Given the description of an element on the screen output the (x, y) to click on. 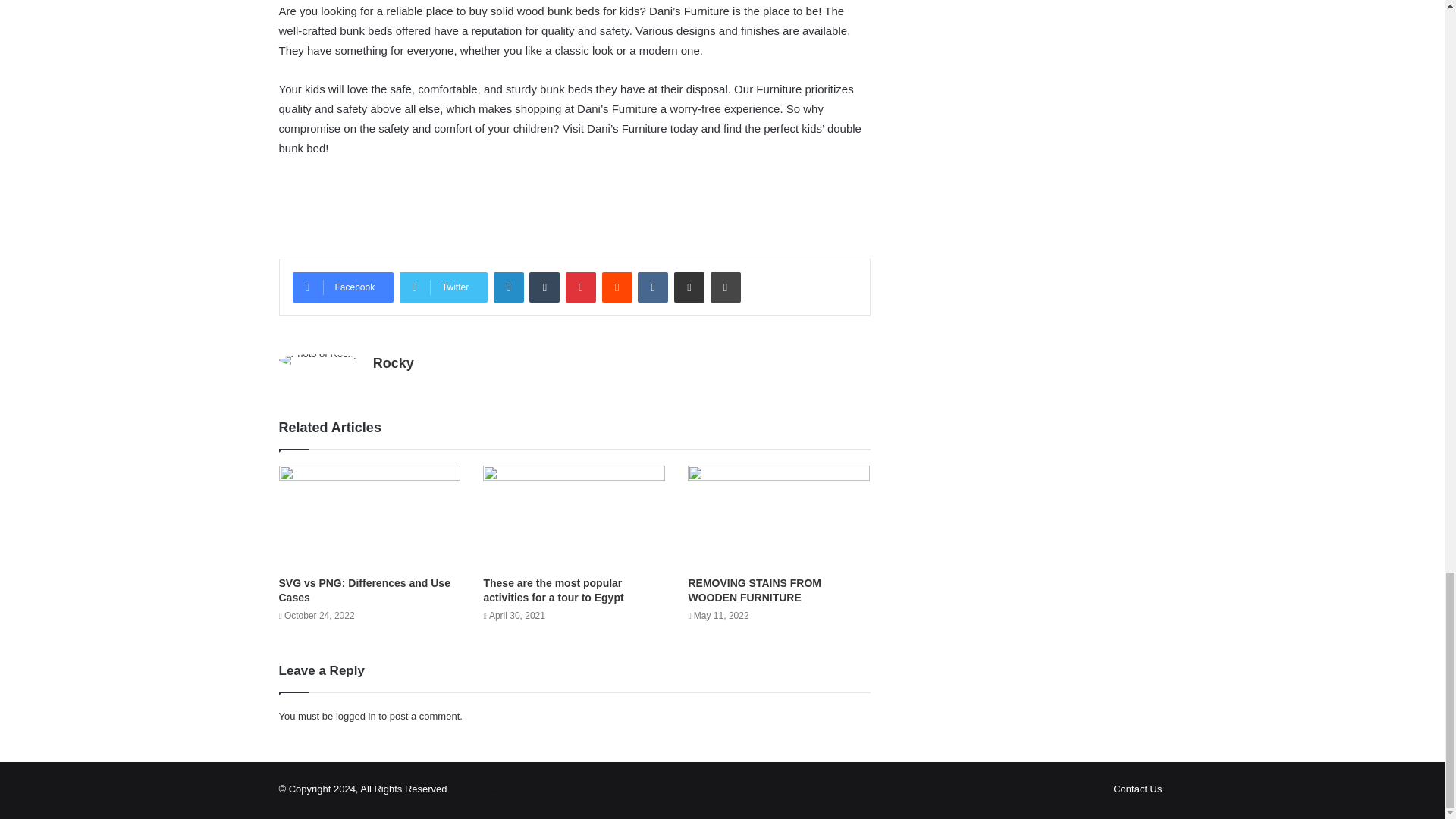
Reddit (616, 286)
Tumblr (544, 286)
LinkedIn (508, 286)
Print (725, 286)
Facebook (343, 286)
SVG vs PNG: Differences and Use Cases (364, 590)
Print (725, 286)
Rocky (392, 363)
LinkedIn (508, 286)
Twitter (442, 286)
Share via Email (689, 286)
Facebook (343, 286)
Reddit (616, 286)
VKontakte (652, 286)
Tumblr (544, 286)
